Given the description of an element on the screen output the (x, y) to click on. 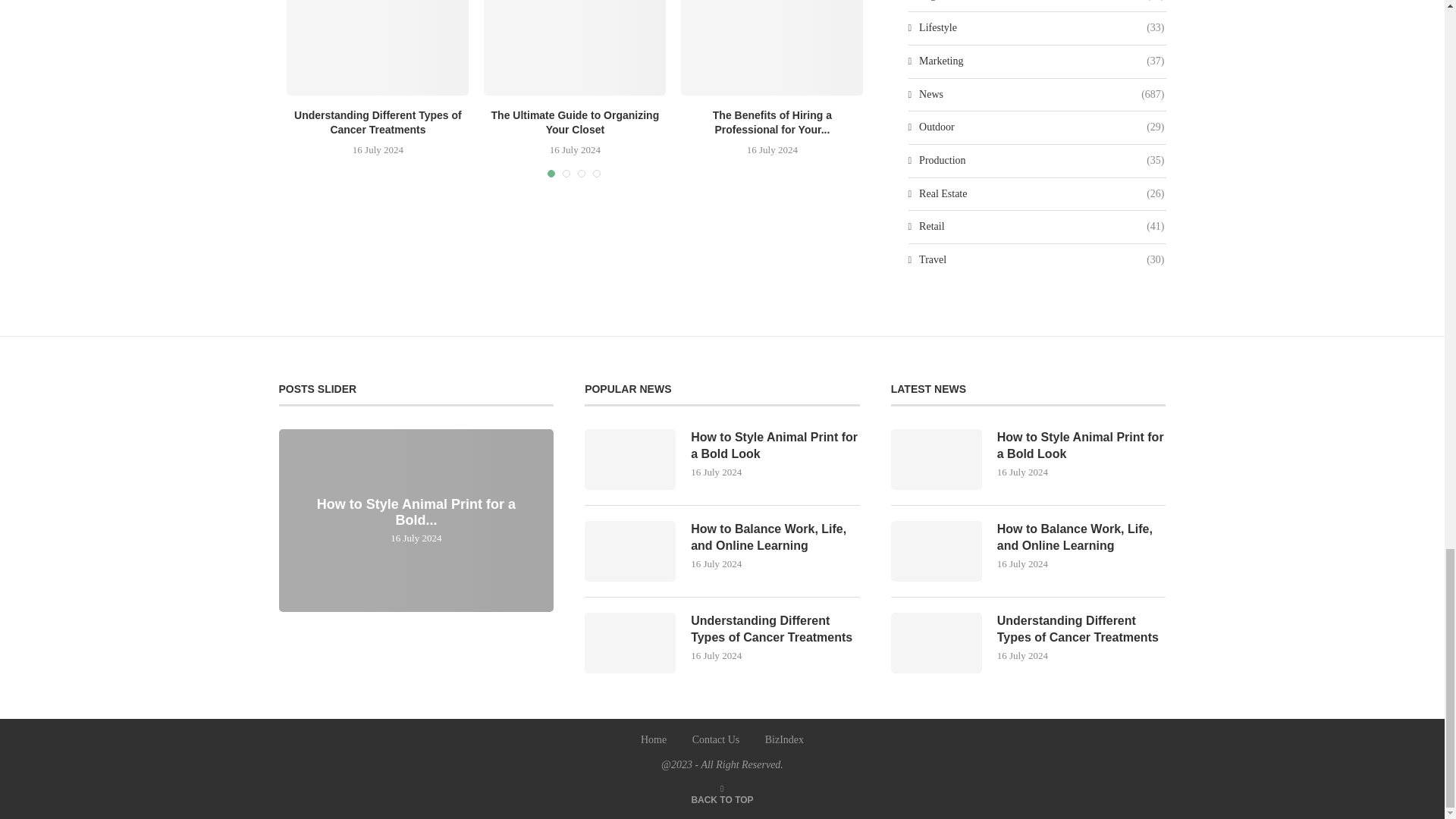
The Ultimate Guide to Organizing Your Closet (574, 47)
Understanding Different Types of Cancer Treatments (377, 47)
